Given the description of an element on the screen output the (x, y) to click on. 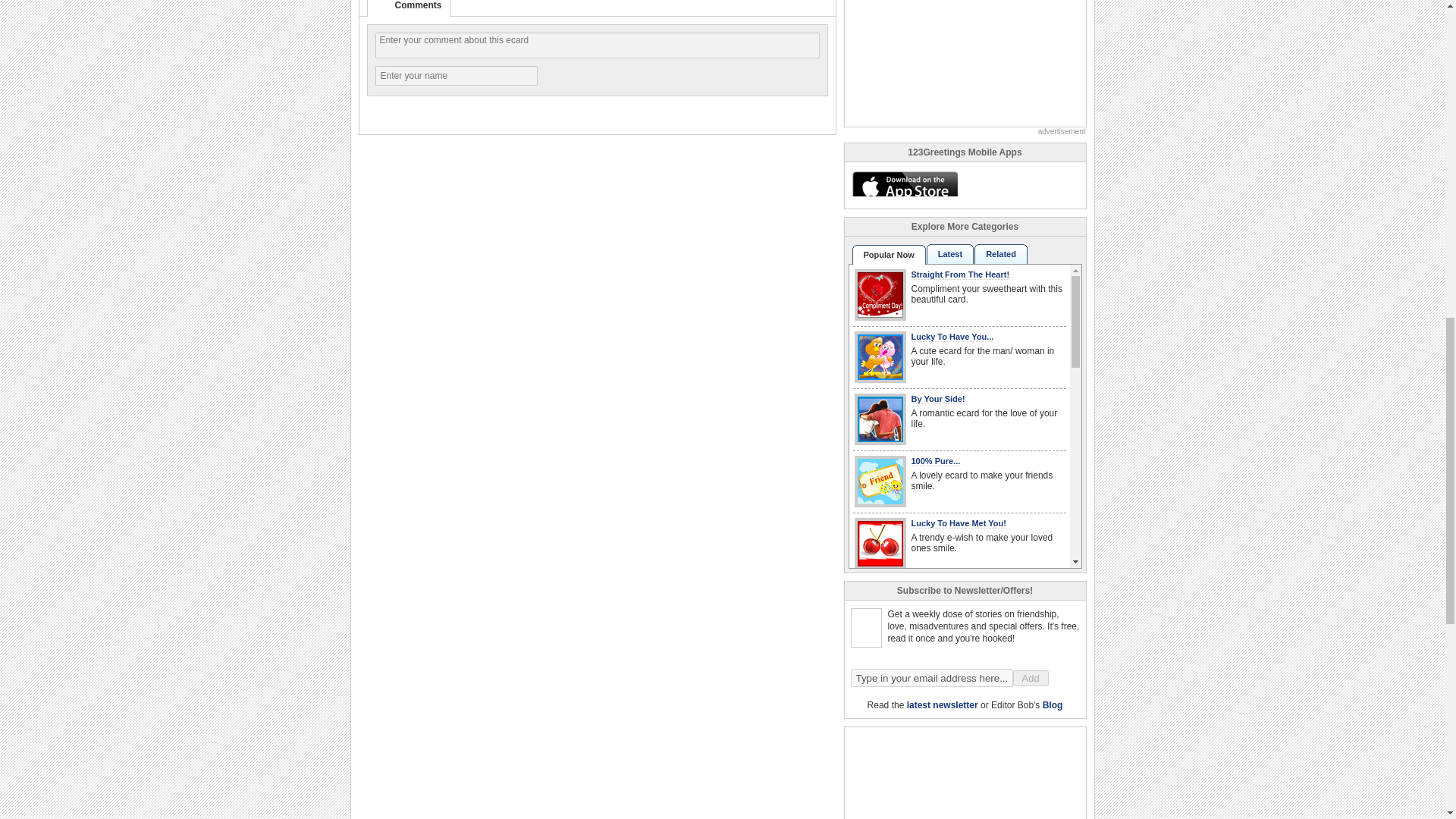
Type in your email address here... (931, 678)
